Given the description of an element on the screen output the (x, y) to click on. 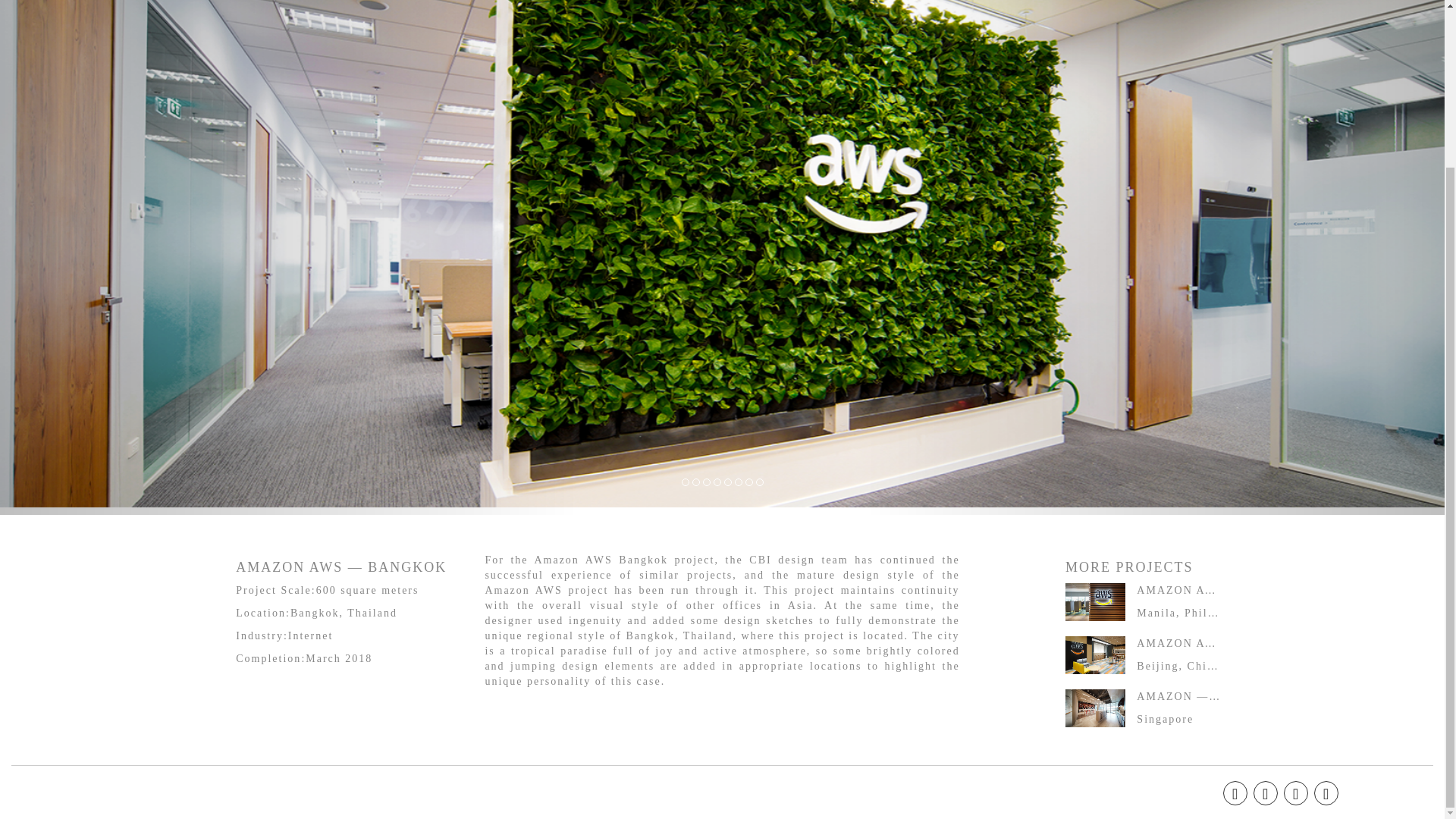
MORE PROJECTS (1136, 567)
